Given the description of an element on the screen output the (x, y) to click on. 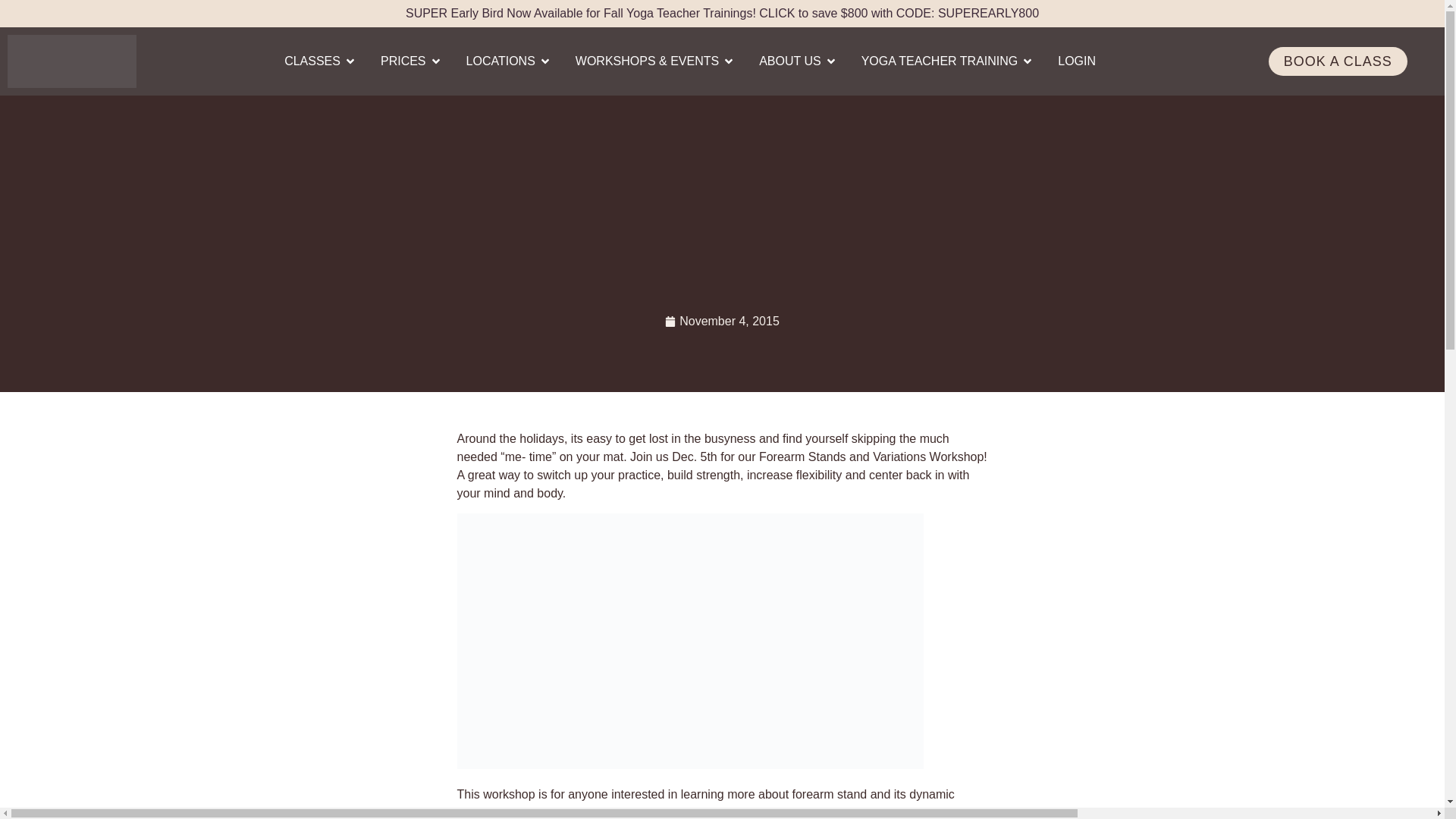
LOCATIONS (500, 61)
CLASSES (311, 61)
PRICES (403, 61)
